Given the description of an element on the screen output the (x, y) to click on. 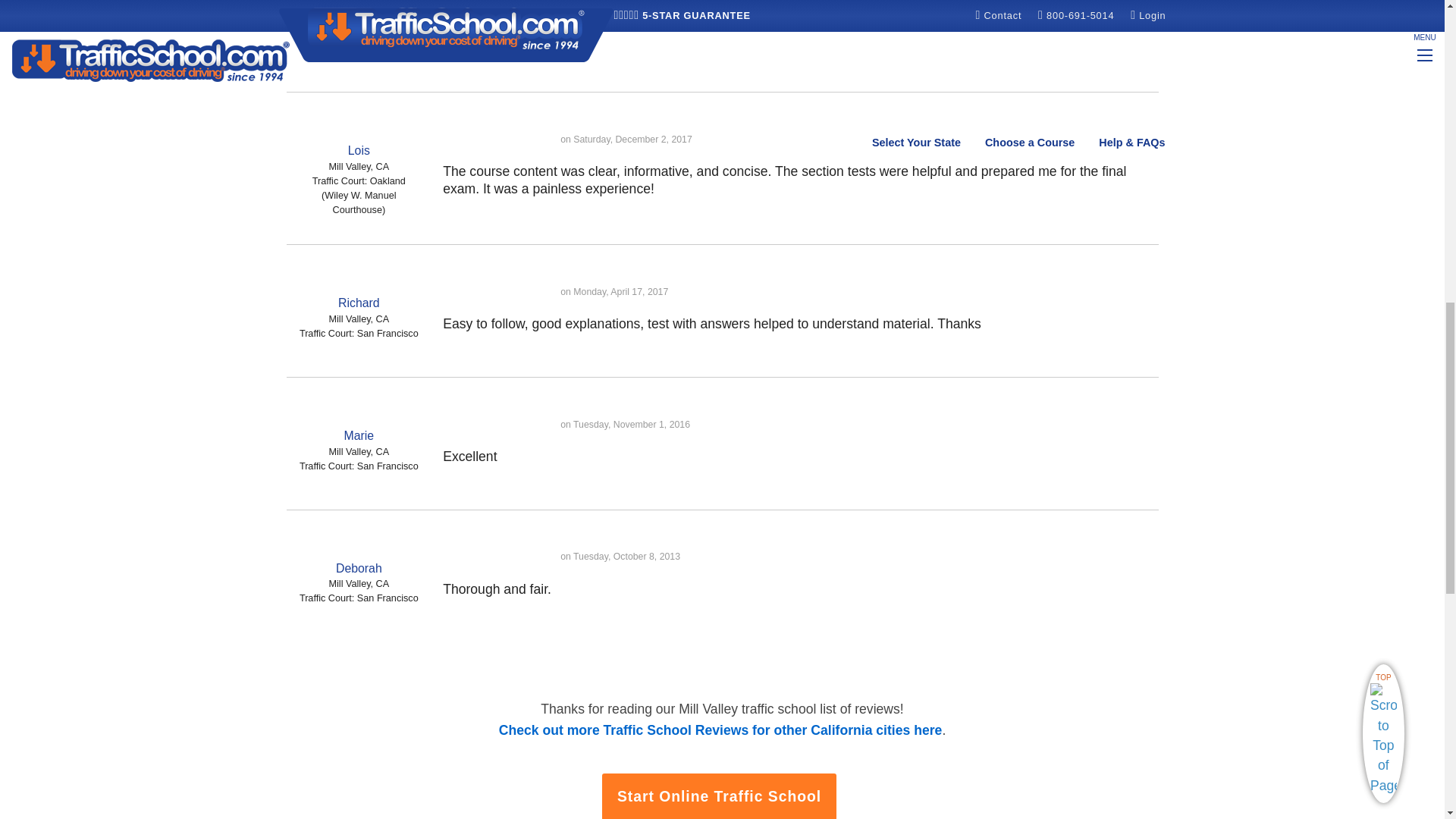
California Traffic School List of Reviews (720, 729)
Start Online Traffic School (719, 796)
